Given the description of an element on the screen output the (x, y) to click on. 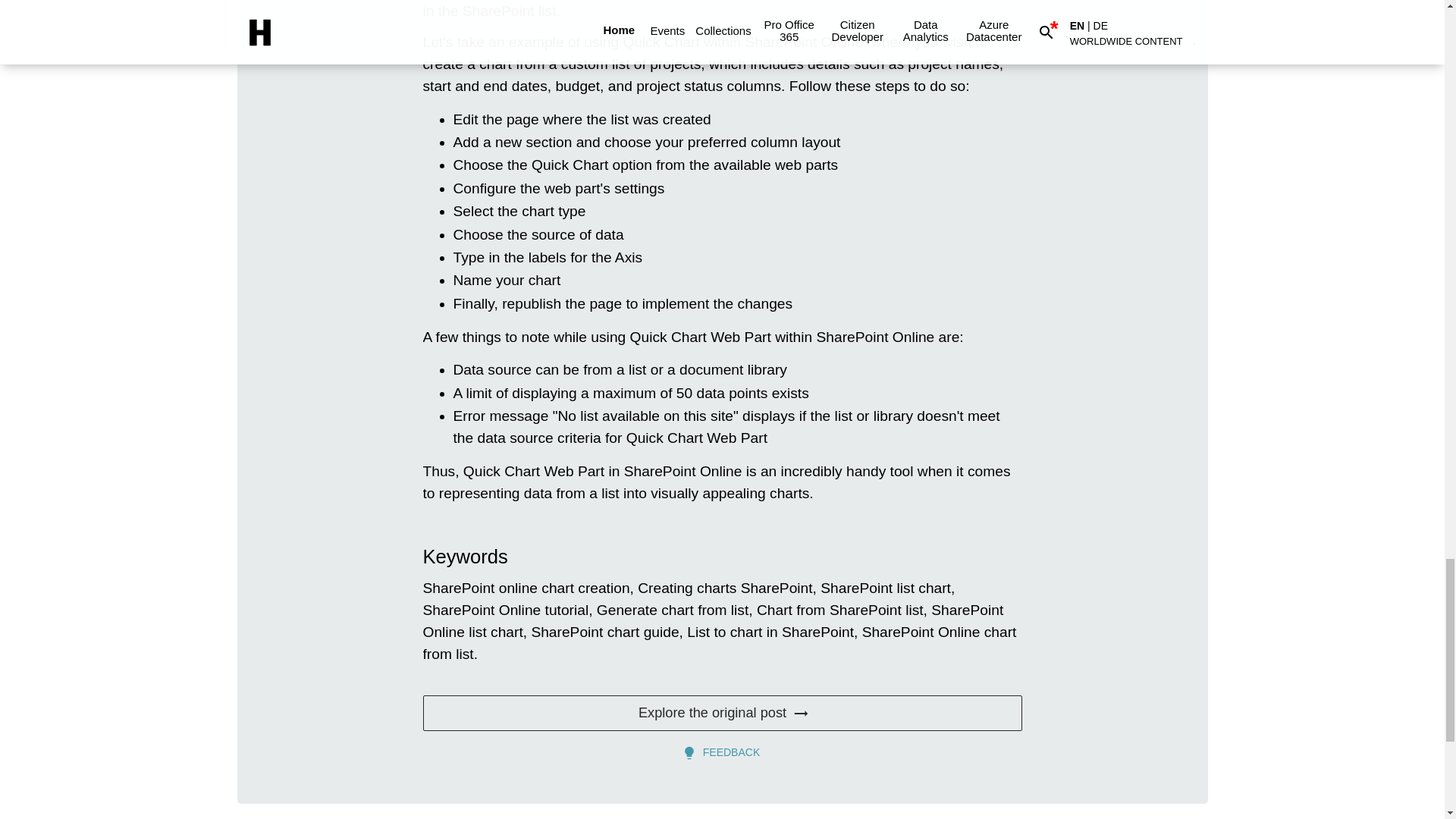
SHOW IN NEWS CENTER (1135, 817)
FEEDBACK (721, 752)
BACK TO HOME (286, 817)
Explore the original post (722, 713)
